Given the description of an element on the screen output the (x, y) to click on. 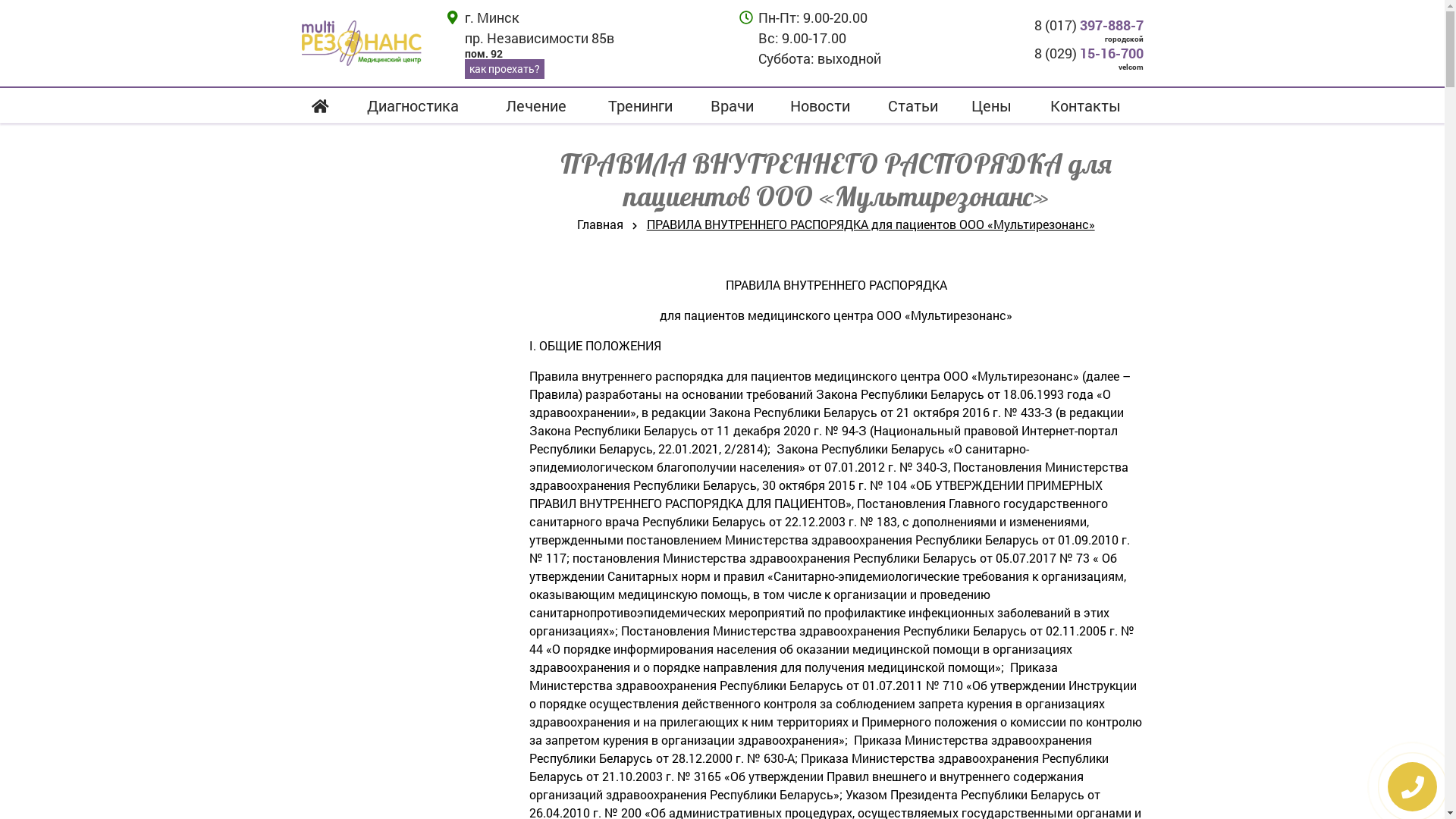
8 (017) 397-888-7 Element type: text (1045, 25)
8 (029) 15-16-700 Element type: text (1045, 53)
  Element type: text (362, 42)
